Given the description of an element on the screen output the (x, y) to click on. 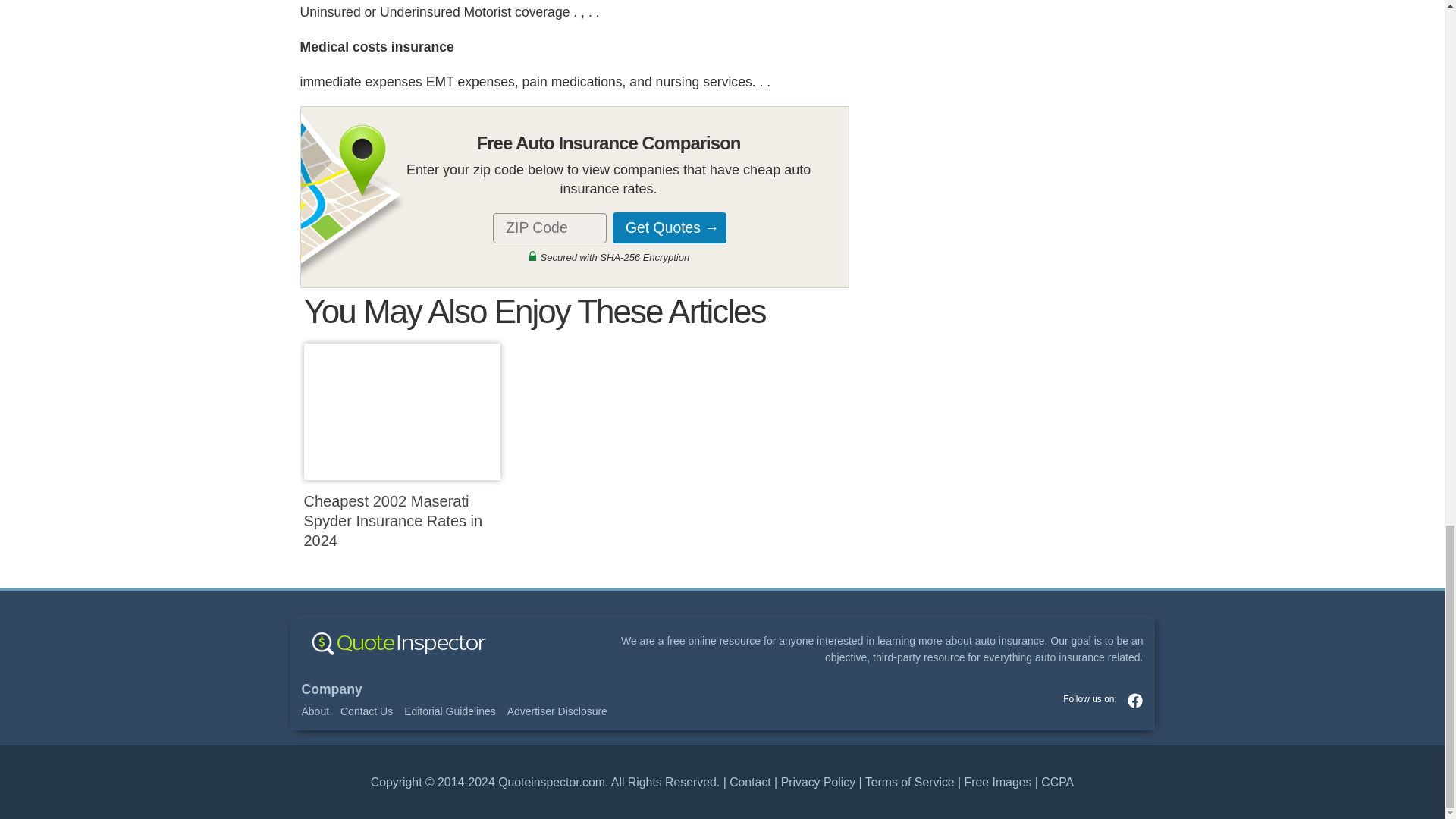
ZIP Code must be filled out! (550, 227)
Tap to get your quotes! (666, 227)
